Given the description of an element on the screen output the (x, y) to click on. 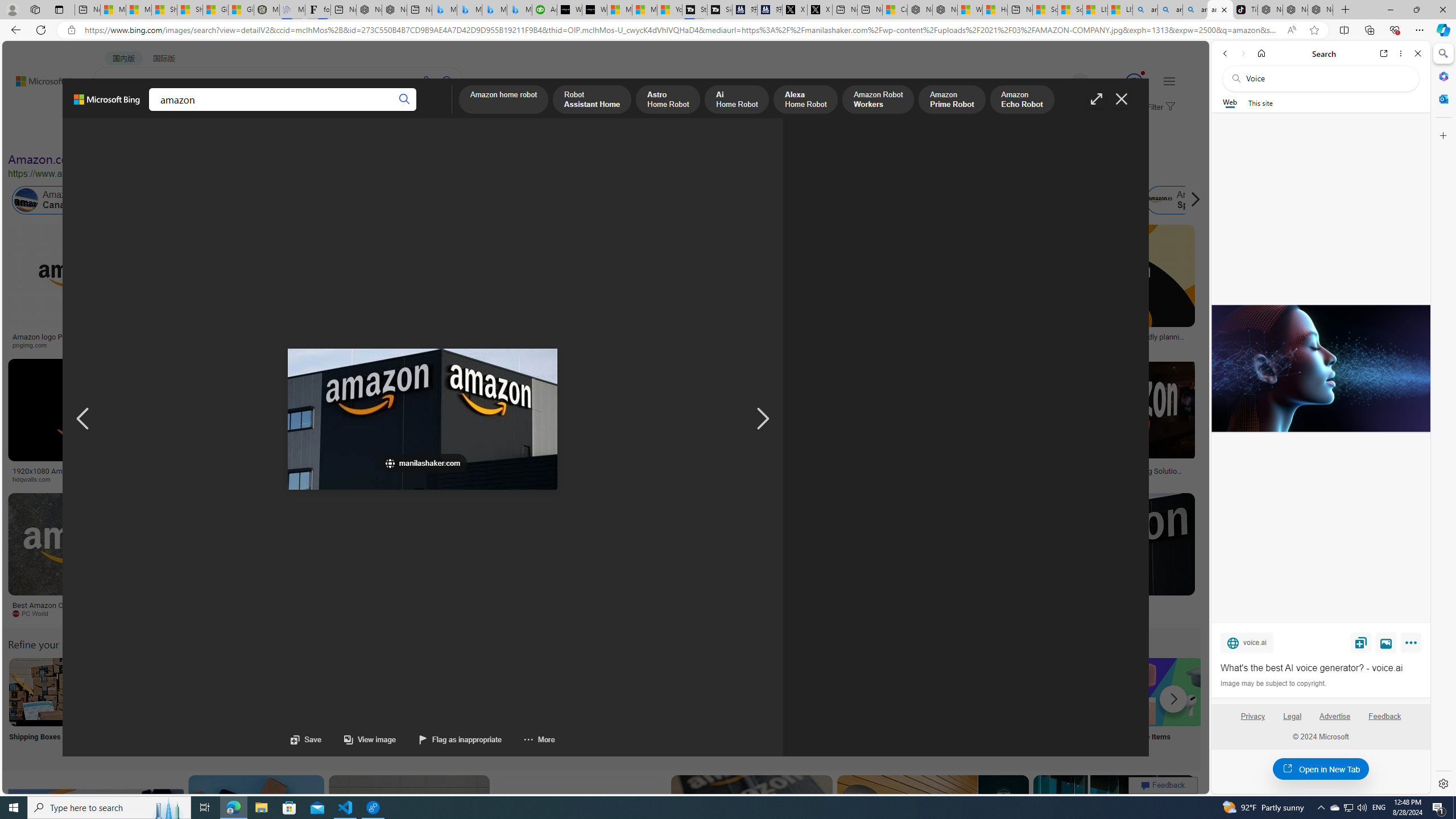
Amazon Visa Card Login Visa Card Login (1093, 706)
Search using voice (426, 80)
Settings (1442, 783)
Amazon Online Shopping Homepage Online Shopping Homepage (868, 706)
ACADEMIC (311, 111)
Amazon Online Shopping Search (118, 691)
GOBankingRates (275, 479)
Layout (252, 135)
Amazon Forest (999, 200)
Kindle Paperwhite Case (673, 298)
TikTok (1244, 9)
Amazon Animals (401, 200)
